Given the description of an element on the screen output the (x, y) to click on. 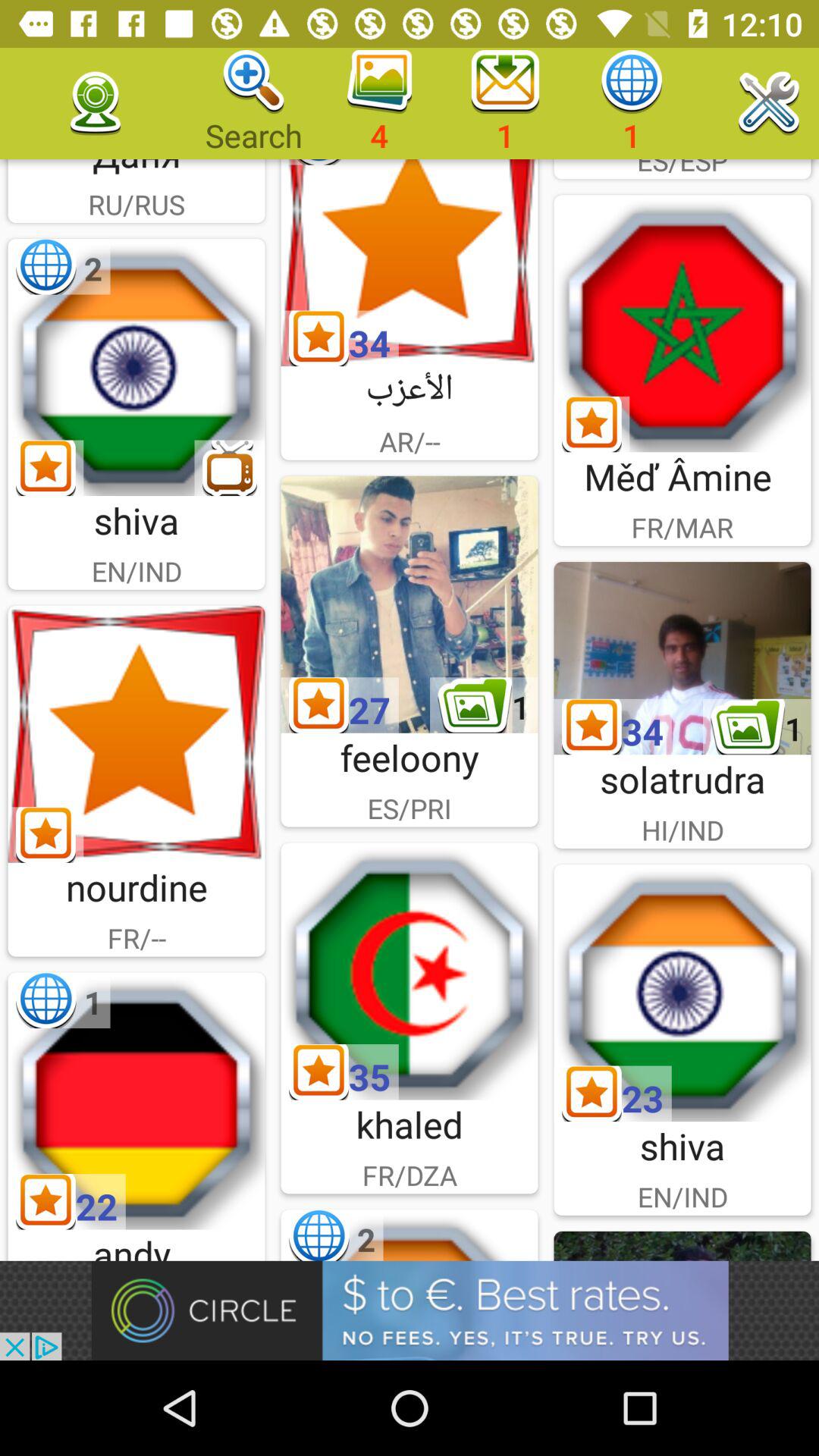
open app page (136, 366)
